Given the description of an element on the screen output the (x, y) to click on. 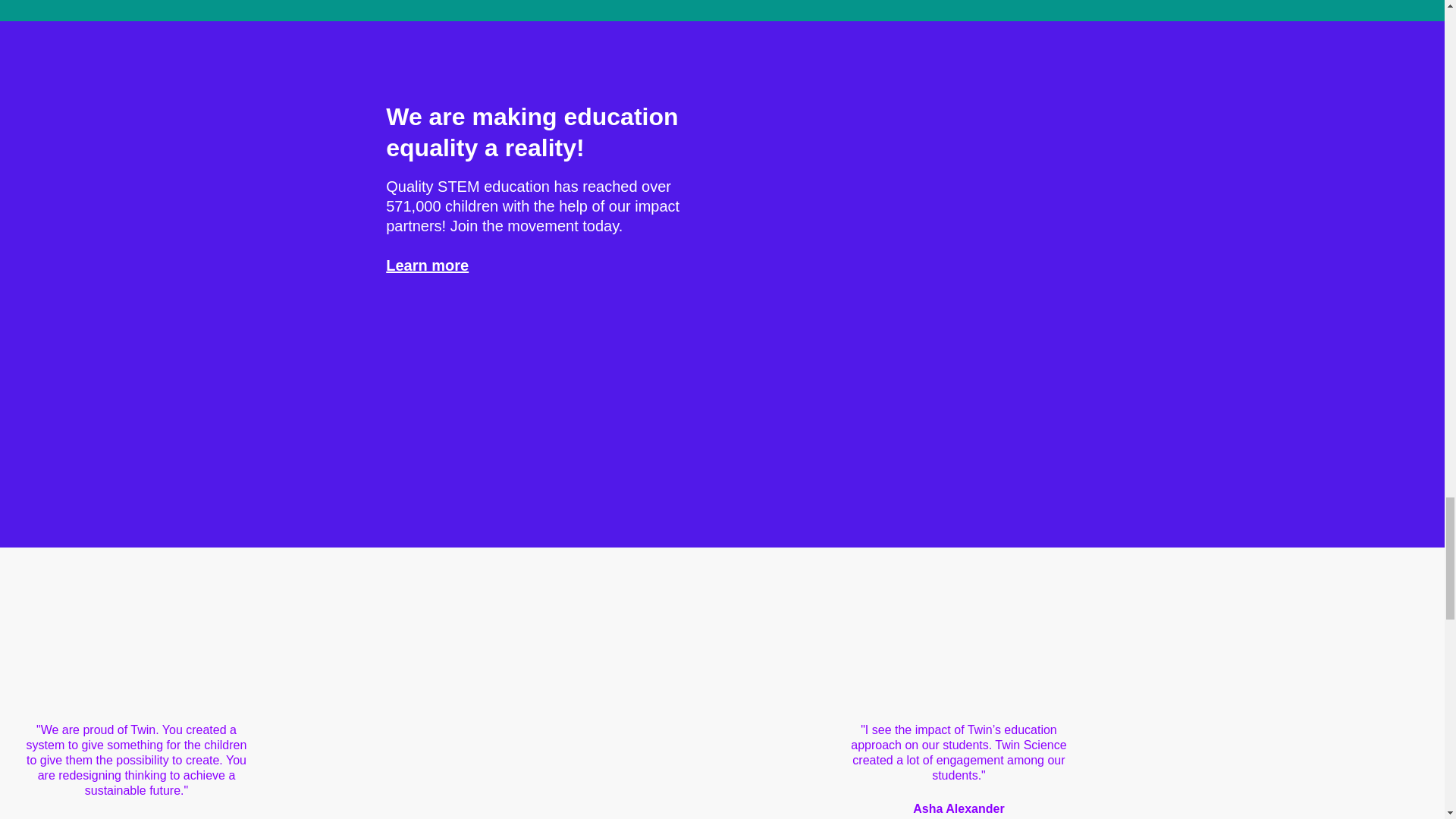
Learn more (426, 265)
